Given the description of an element on the screen output the (x, y) to click on. 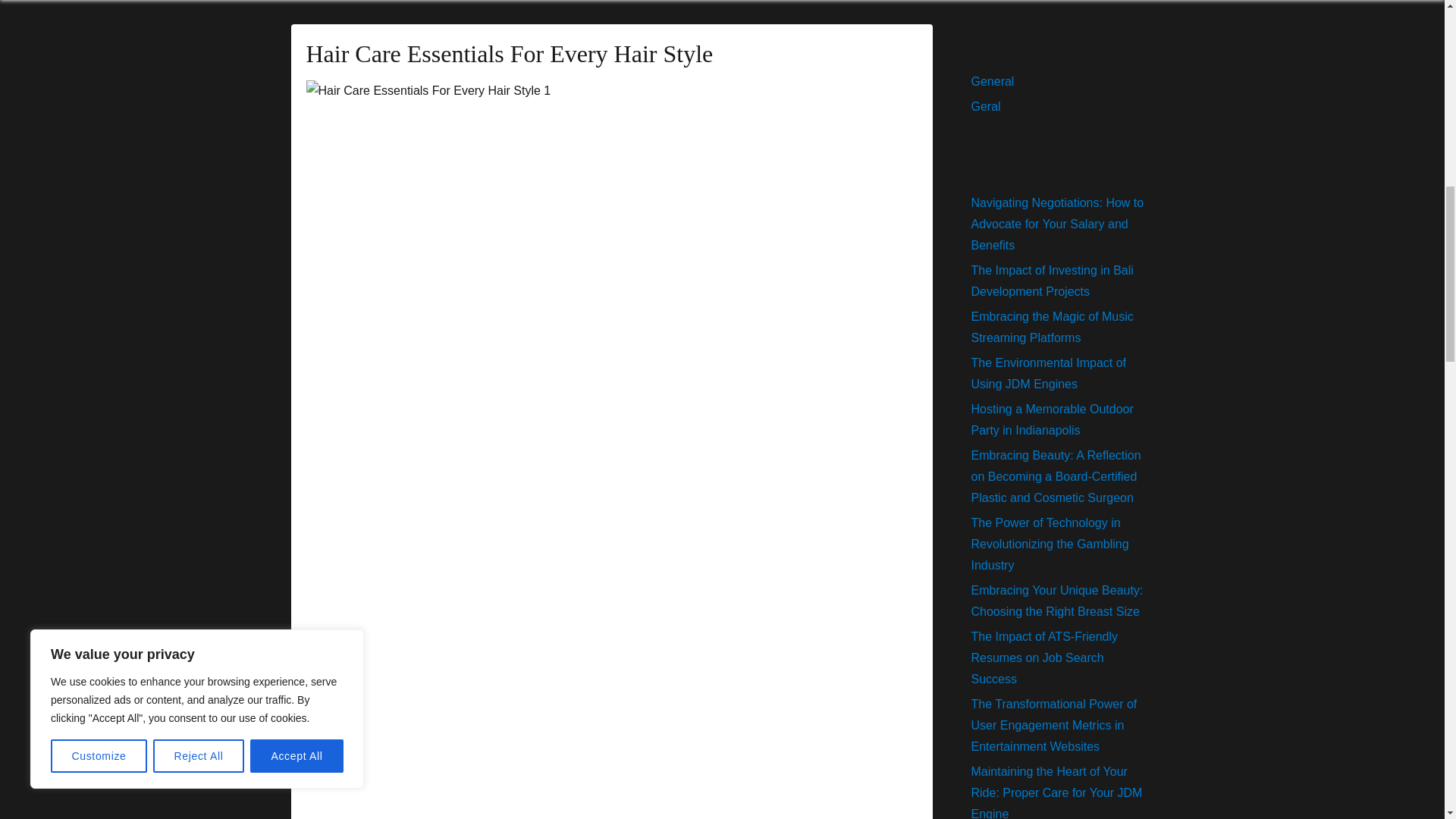
The Environmental Impact of Using JDM Engines (1048, 373)
Geral (985, 106)
Hosting a Memorable Outdoor Party in Indianapolis (1051, 419)
General (992, 81)
Embracing the Magic of Music Streaming Platforms (1051, 326)
The Impact of Investing in Bali Development Projects (1051, 280)
